Given the description of an element on the screen output the (x, y) to click on. 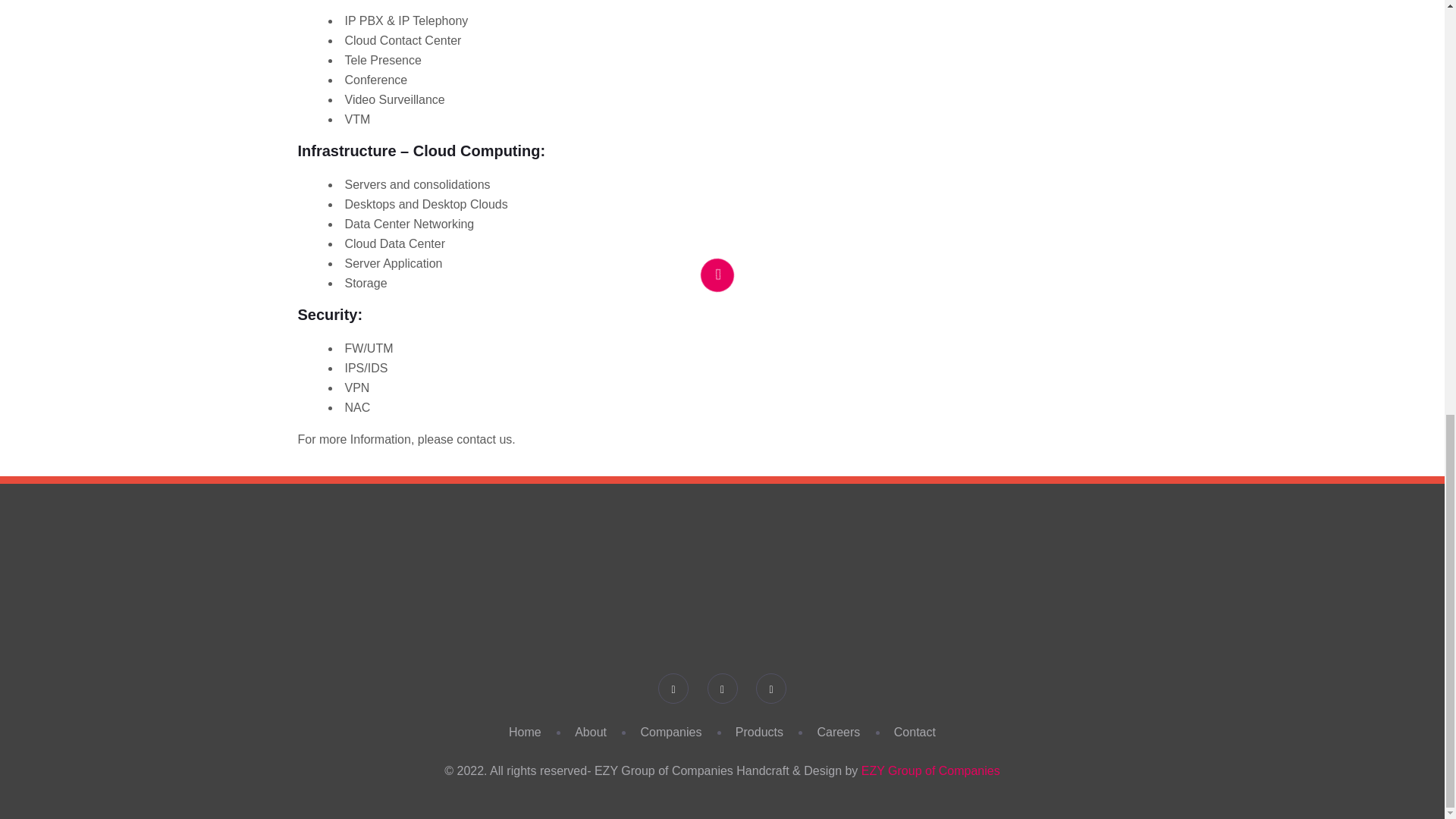
Companies (670, 731)
EZY Group of Companies (930, 770)
Products (759, 731)
Home (524, 731)
Careers (838, 731)
About (591, 731)
Contact (914, 731)
